Given the description of an element on the screen output the (x, y) to click on. 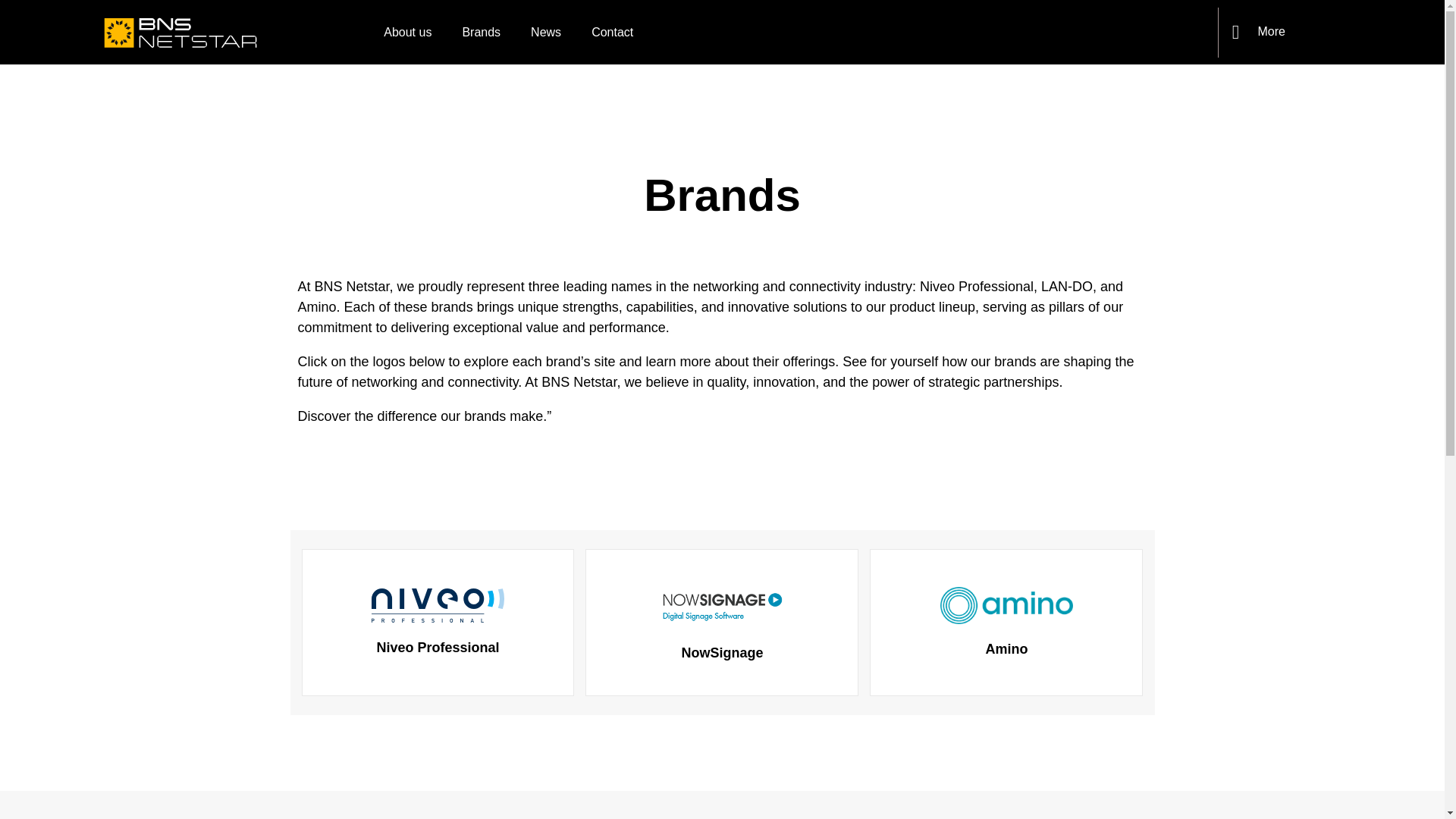
Contact (611, 32)
Amino (1005, 621)
Brands (480, 32)
Niveo Professional (437, 622)
More (1271, 31)
About us (407, 32)
NowSignage (722, 622)
News (545, 32)
